Given the description of an element on the screen output the (x, y) to click on. 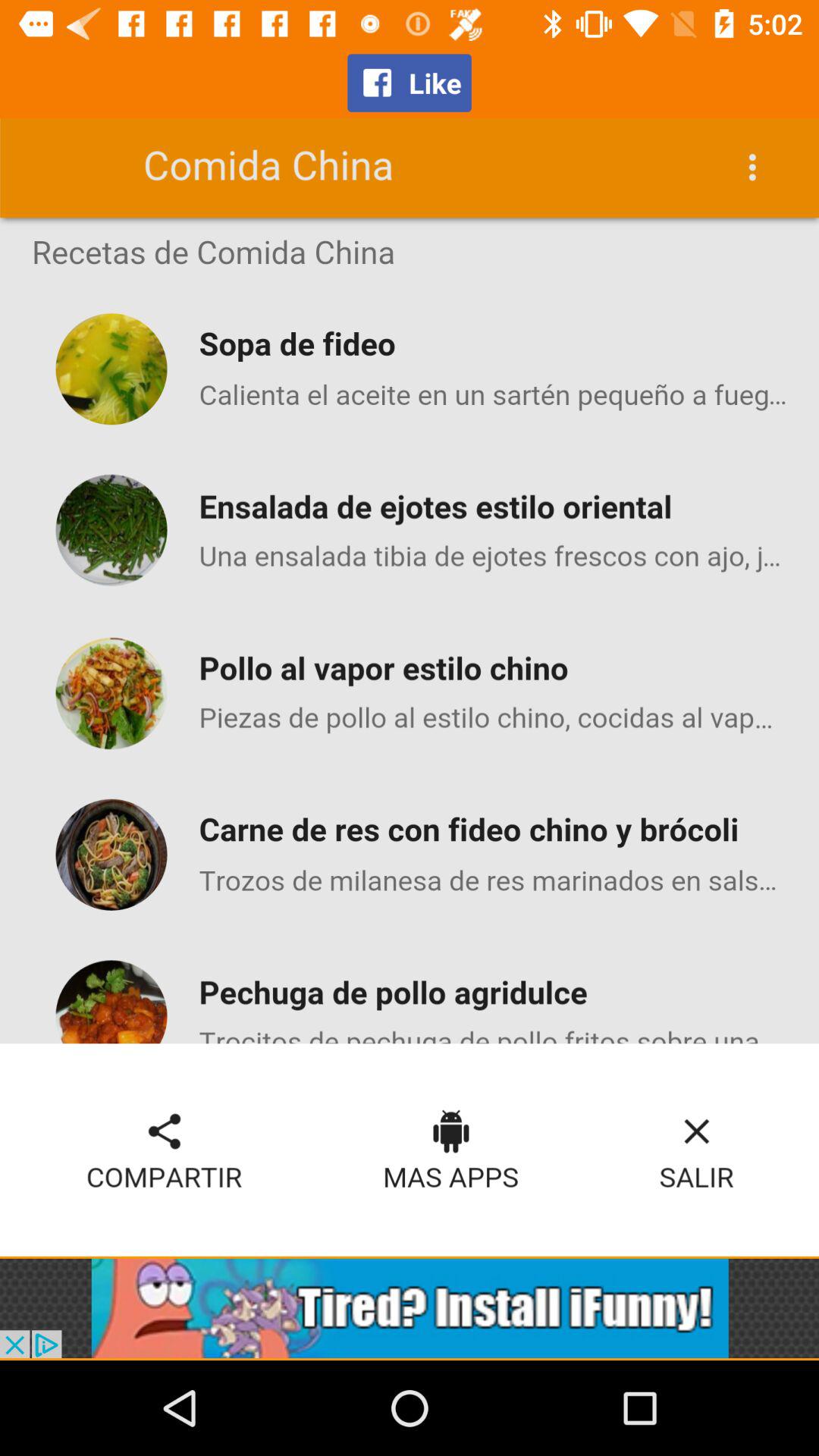
try this app (409, 1308)
